Given the description of an element on the screen output the (x, y) to click on. 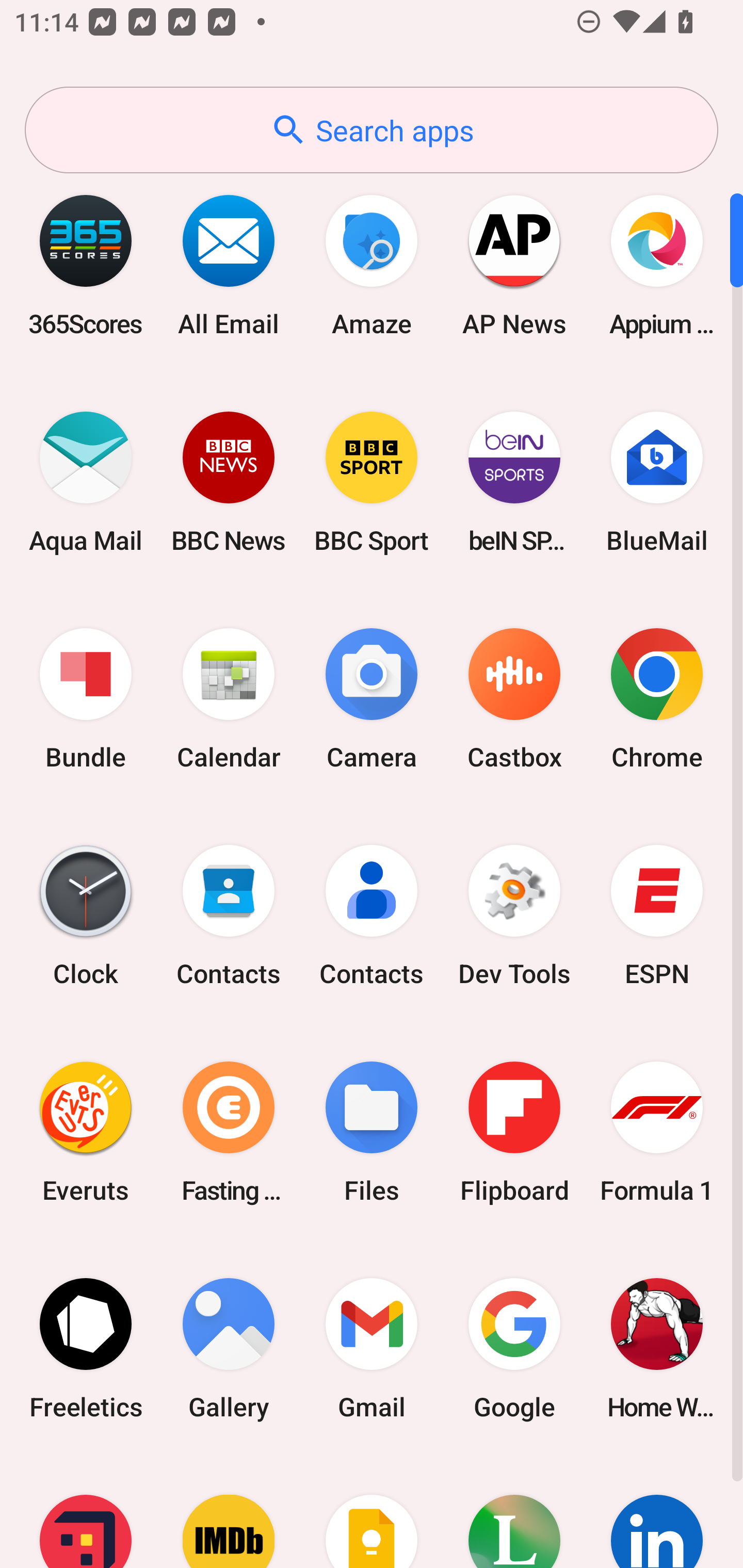
  Search apps (371, 130)
365Scores (85, 264)
All Email (228, 264)
Amaze (371, 264)
AP News (514, 264)
Appium Settings (656, 264)
Aqua Mail (85, 482)
BBC News (228, 482)
BBC Sport (371, 482)
beIN SPORTS (514, 482)
BlueMail (656, 482)
Bundle (85, 699)
Calendar (228, 699)
Camera (371, 699)
Castbox (514, 699)
Chrome (656, 699)
Clock (85, 915)
Contacts (228, 915)
Contacts (371, 915)
Dev Tools (514, 915)
ESPN (656, 915)
Everuts (85, 1131)
Fasting Coach (228, 1131)
Files (371, 1131)
Flipboard (514, 1131)
Formula 1 (656, 1131)
Freeletics (85, 1348)
Gallery (228, 1348)
Gmail (371, 1348)
Google (514, 1348)
Home Workout (656, 1348)
Hotels.com (85, 1512)
IMDb (228, 1512)
Keep Notes (371, 1512)
Lifesum (514, 1512)
LinkedIn (656, 1512)
